Given the description of an element on the screen output the (x, y) to click on. 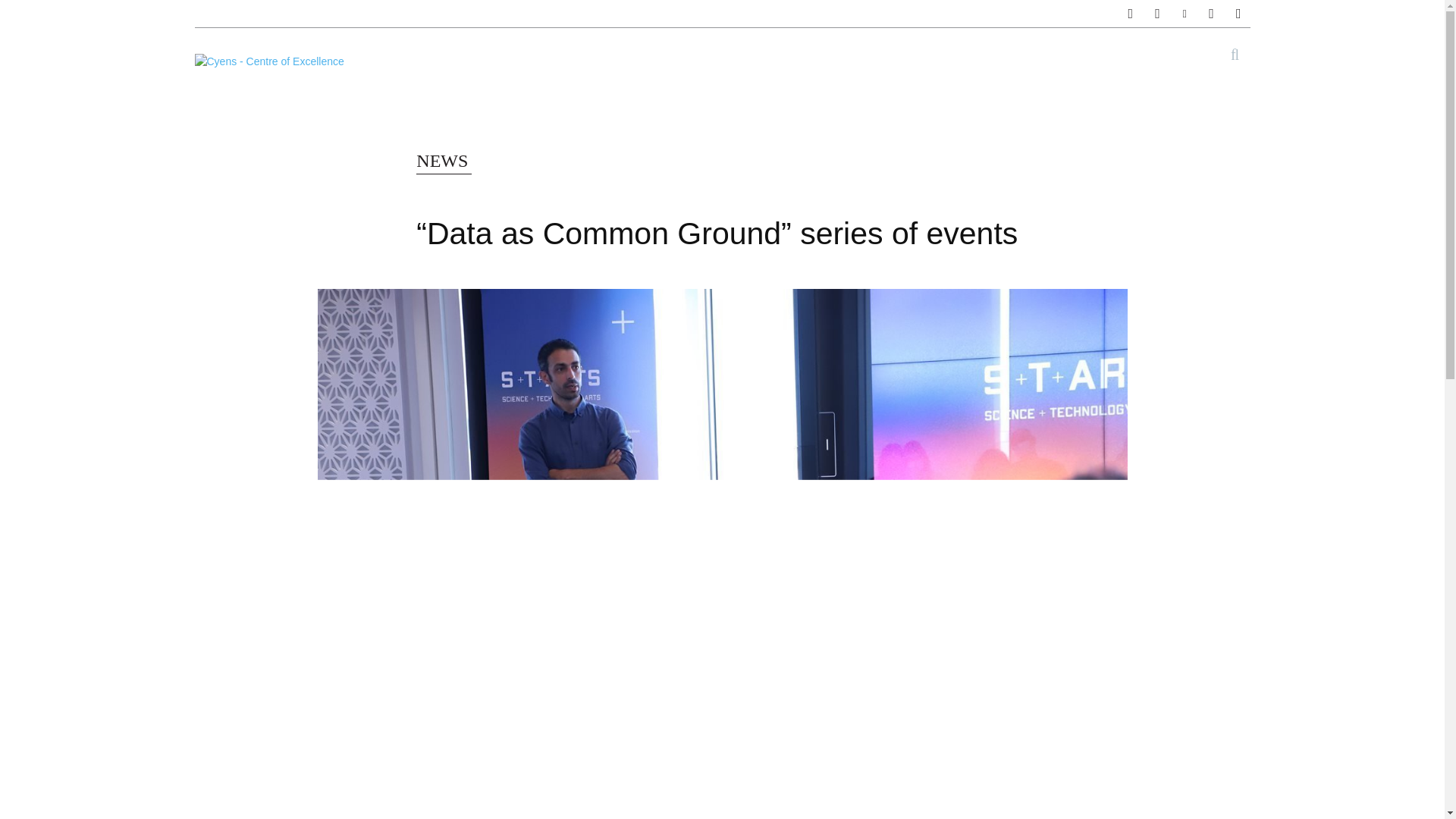
Instagram (1157, 13)
Facebook (1130, 13)
Linkedin (1184, 13)
Twitter (1211, 13)
Youtube (1238, 13)
